Given the description of an element on the screen output the (x, y) to click on. 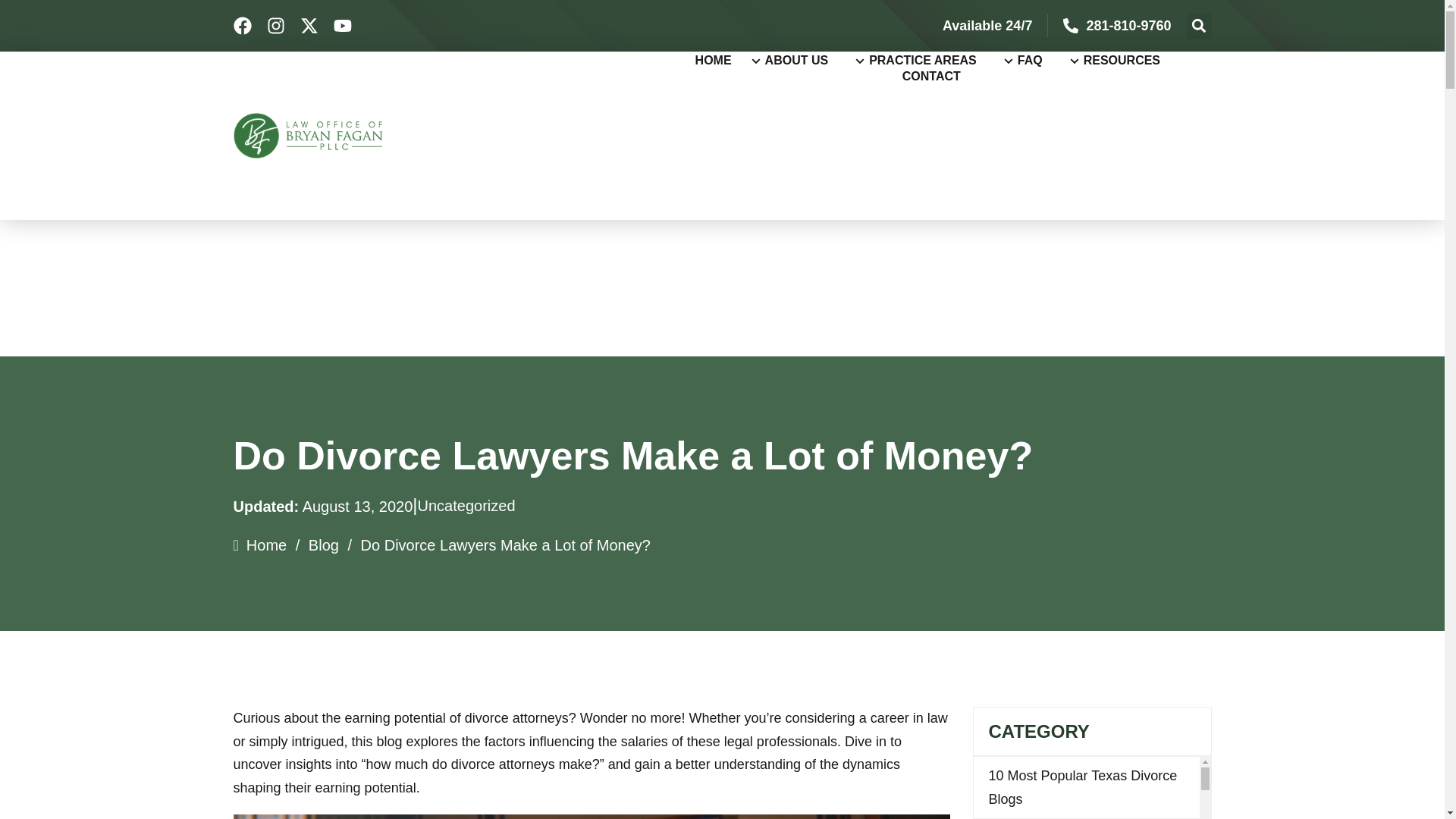
ABOUT US (796, 60)
HOME (719, 60)
281-810-9760 (1128, 25)
PRACTICE AREAS (921, 60)
